Given the description of an element on the screen output the (x, y) to click on. 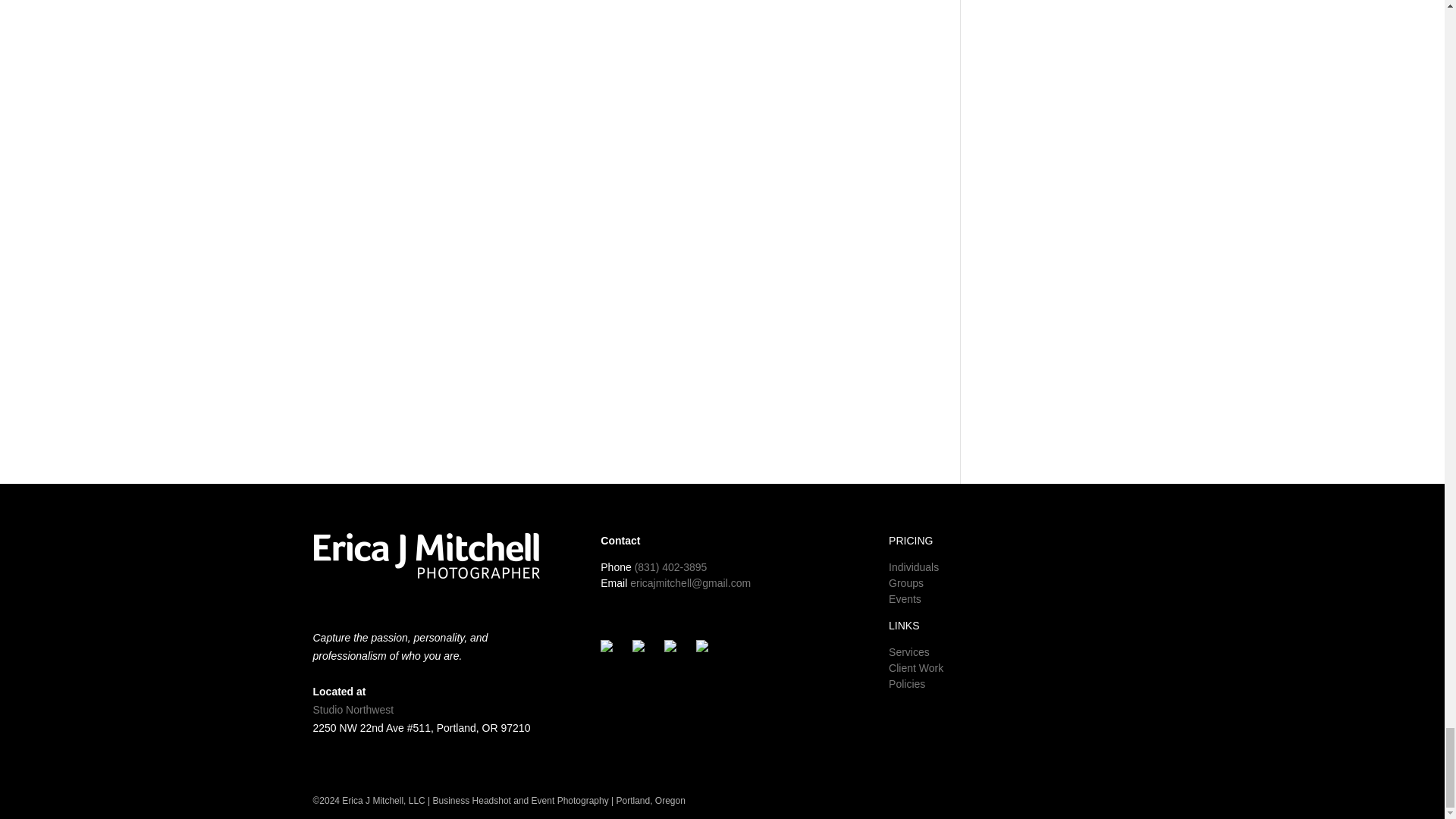
Find us on Linkedin (675, 651)
Find us on Linkedin (670, 647)
Follow us on Twitter (638, 647)
Follow us on Twitter (643, 651)
Follow us on Facebook (611, 651)
Check out our instagram feed (707, 651)
Follow us on Facebook (605, 647)
